Given the description of an element on the screen output the (x, y) to click on. 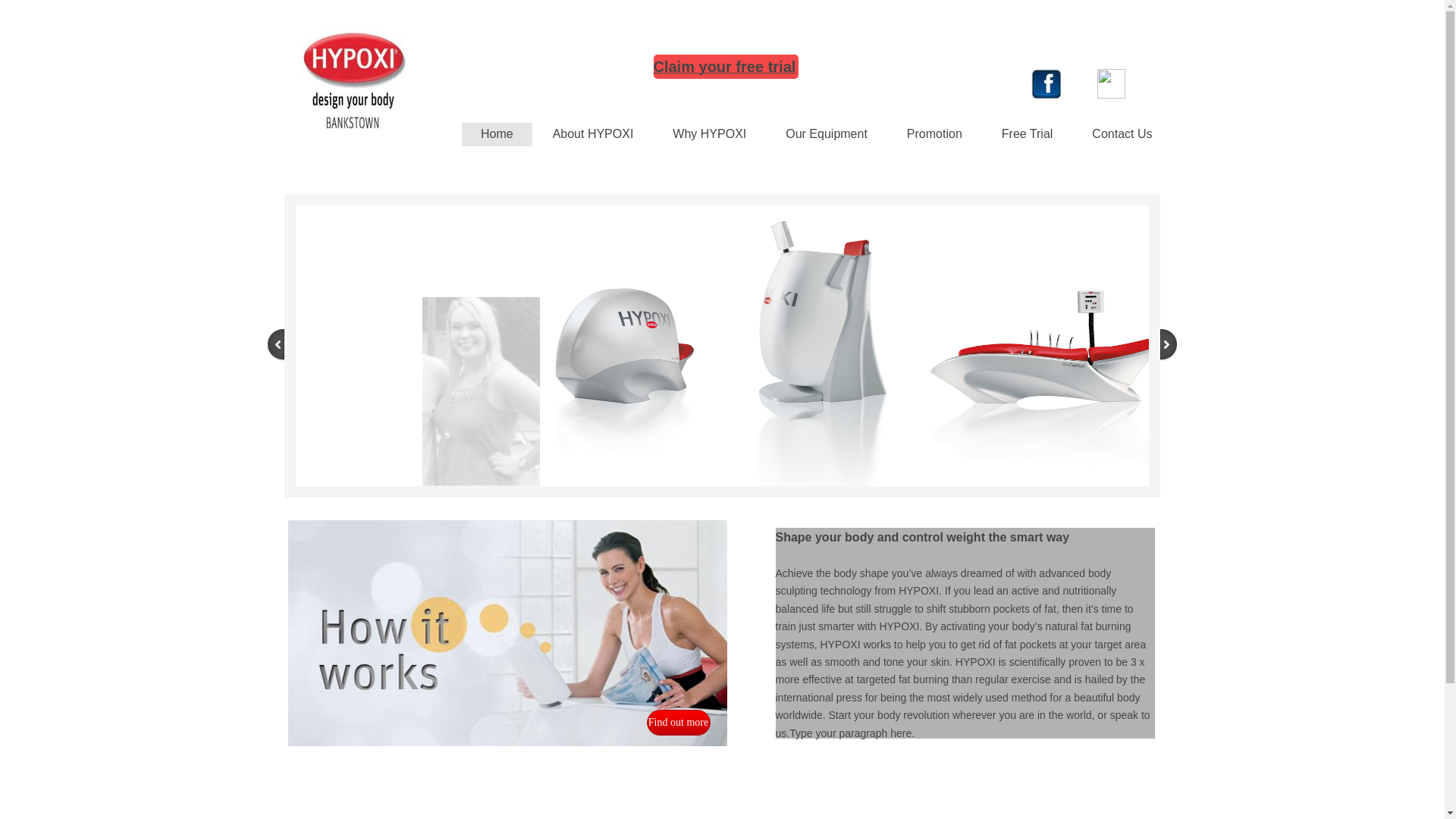
Claim your free trial Element type: text (724, 68)
Contact Us Element type: text (1121, 134)
Find out more Element type: text (677, 722)
Free Trial Element type: text (1027, 134)
Why HYPOXI Element type: text (709, 134)
Home Element type: text (496, 134)
Promotion Element type: text (934, 134)
About HYPOXI Element type: text (592, 134)
Our Equipment Element type: text (826, 134)
